Given the description of an element on the screen output the (x, y) to click on. 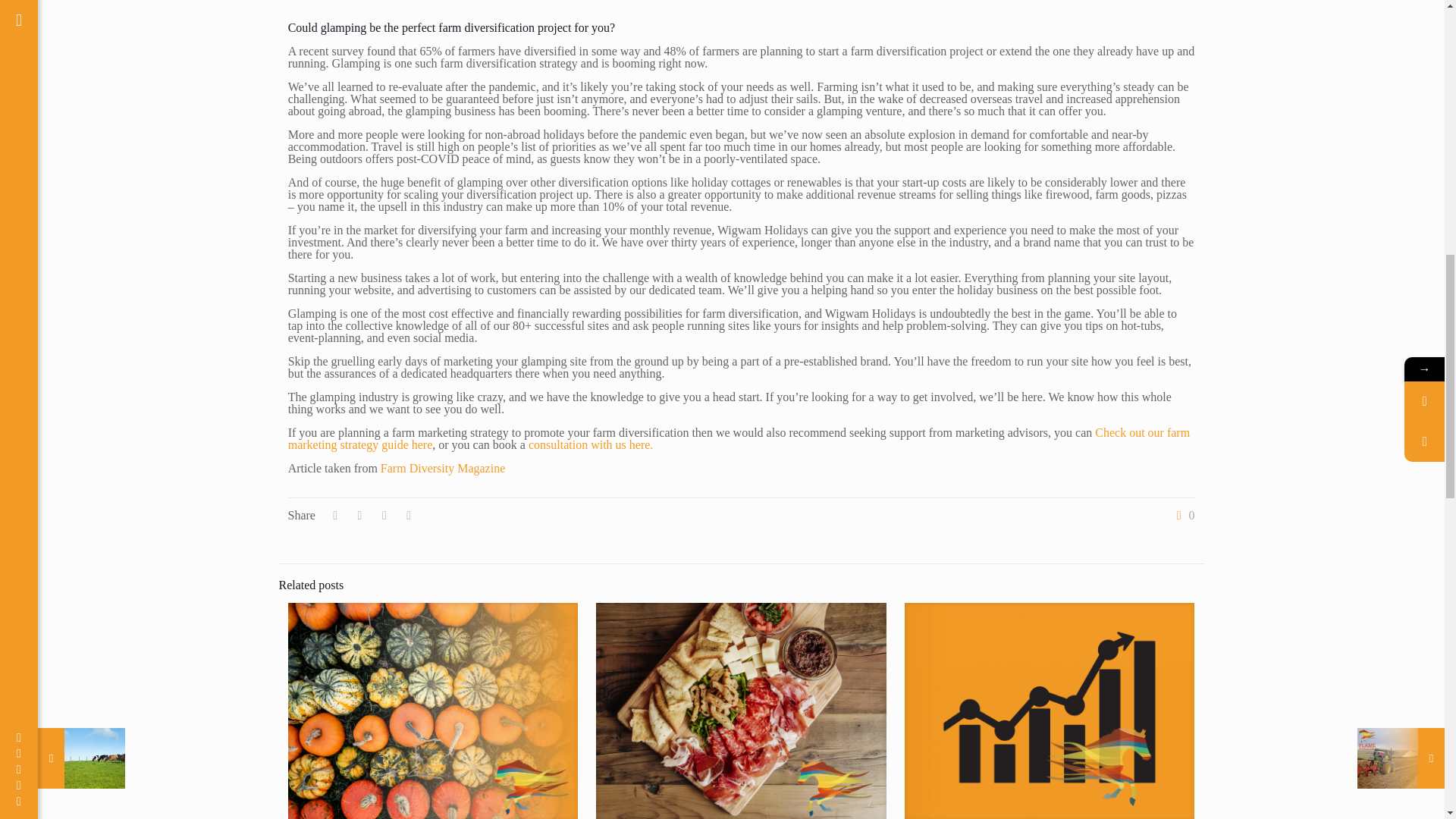
Check out our farm marketing strategy guide here (738, 438)
consultation with us here. (590, 444)
Farm Diversity Magazine (442, 468)
